Given the description of an element on the screen output the (x, y) to click on. 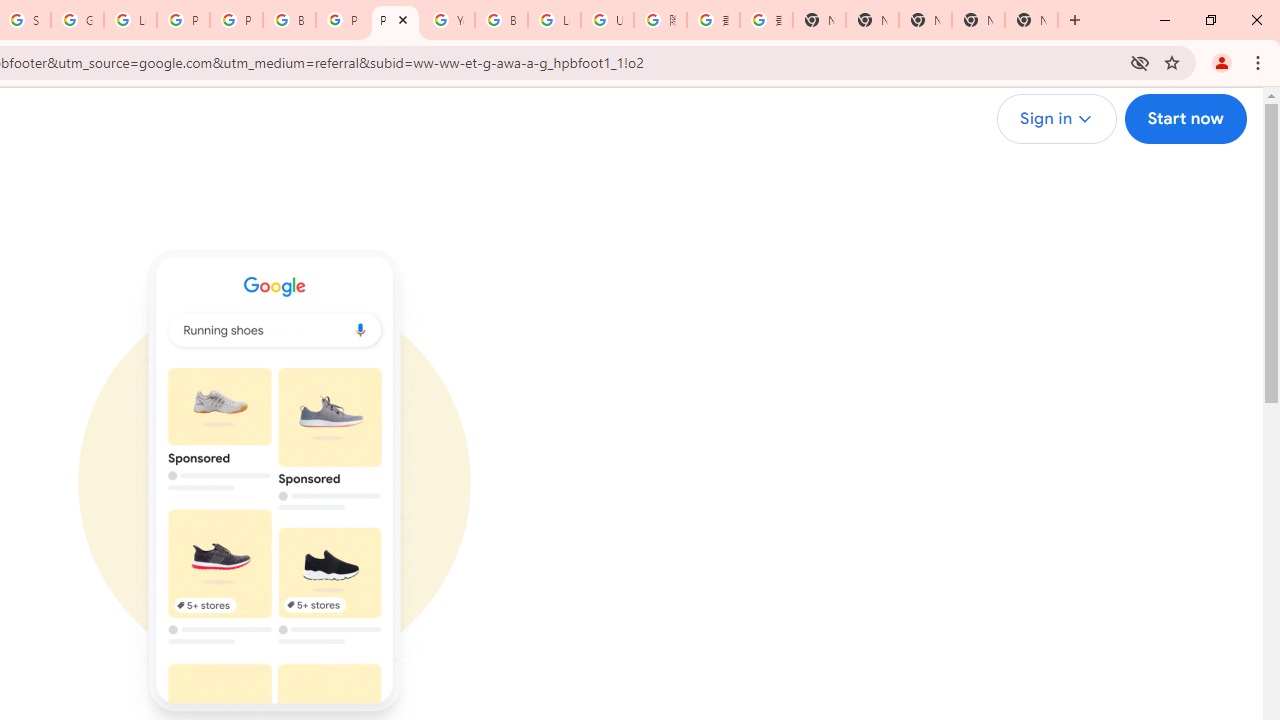
Privacy Help Center - Policies Help (235, 20)
New Tab (819, 20)
Privacy Help Center - Policies Help (183, 20)
Start now (1184, 119)
